Given the description of an element on the screen output the (x, y) to click on. 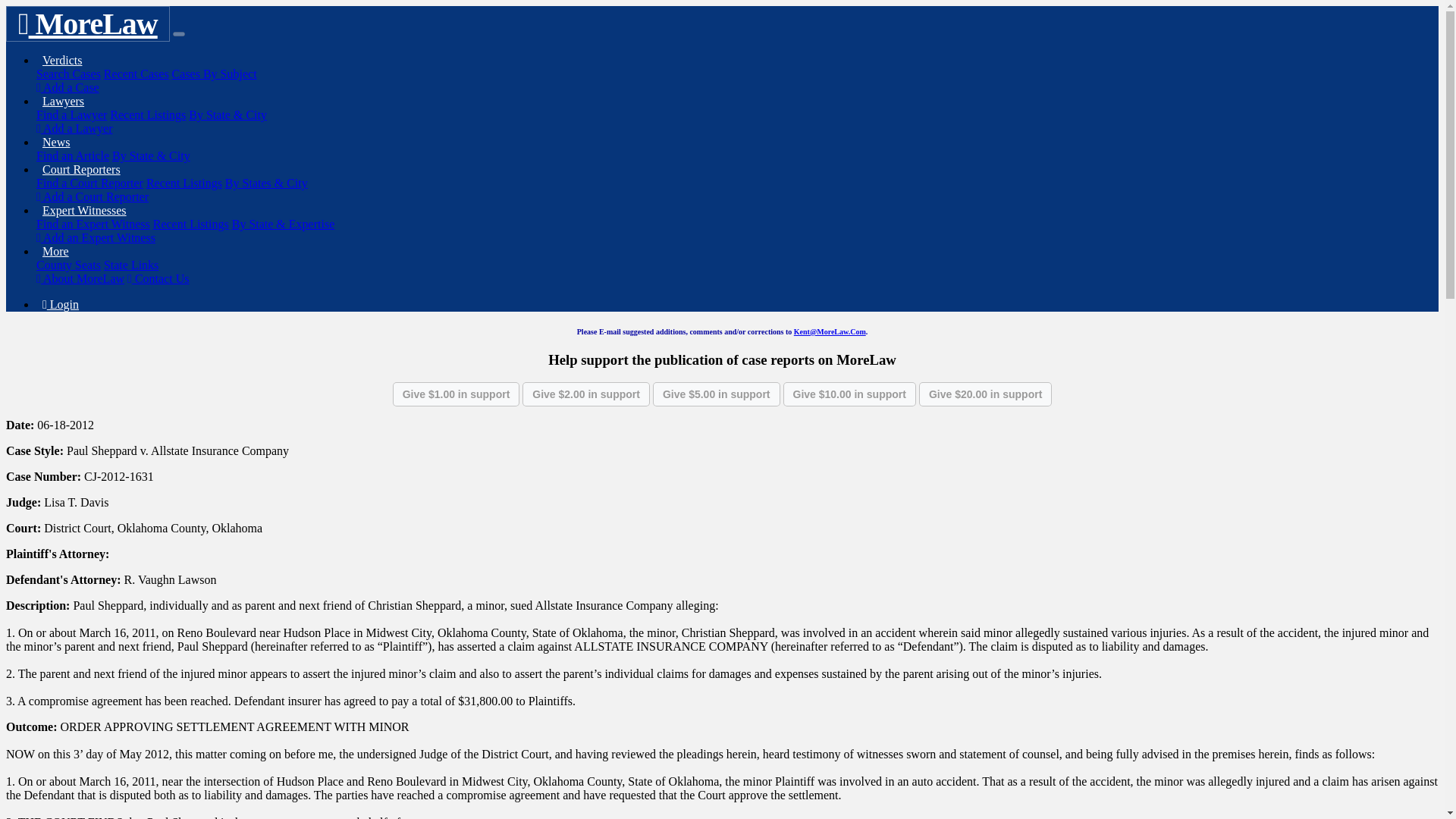
Find an Article (72, 155)
About MoreLaw (79, 278)
Add a Court Reporter (92, 196)
Lawyers (63, 101)
Add an Expert Witness (95, 237)
Recent Cases (135, 73)
Recent Listings (148, 114)
Search Cases (68, 73)
Find a Lawyer (71, 114)
Cases By Subject (214, 73)
Verdicts (61, 60)
Find a Court Reporter (89, 182)
More (55, 250)
Add a Case (67, 87)
Find an Expert Witness (92, 223)
